Given the description of an element on the screen output the (x, y) to click on. 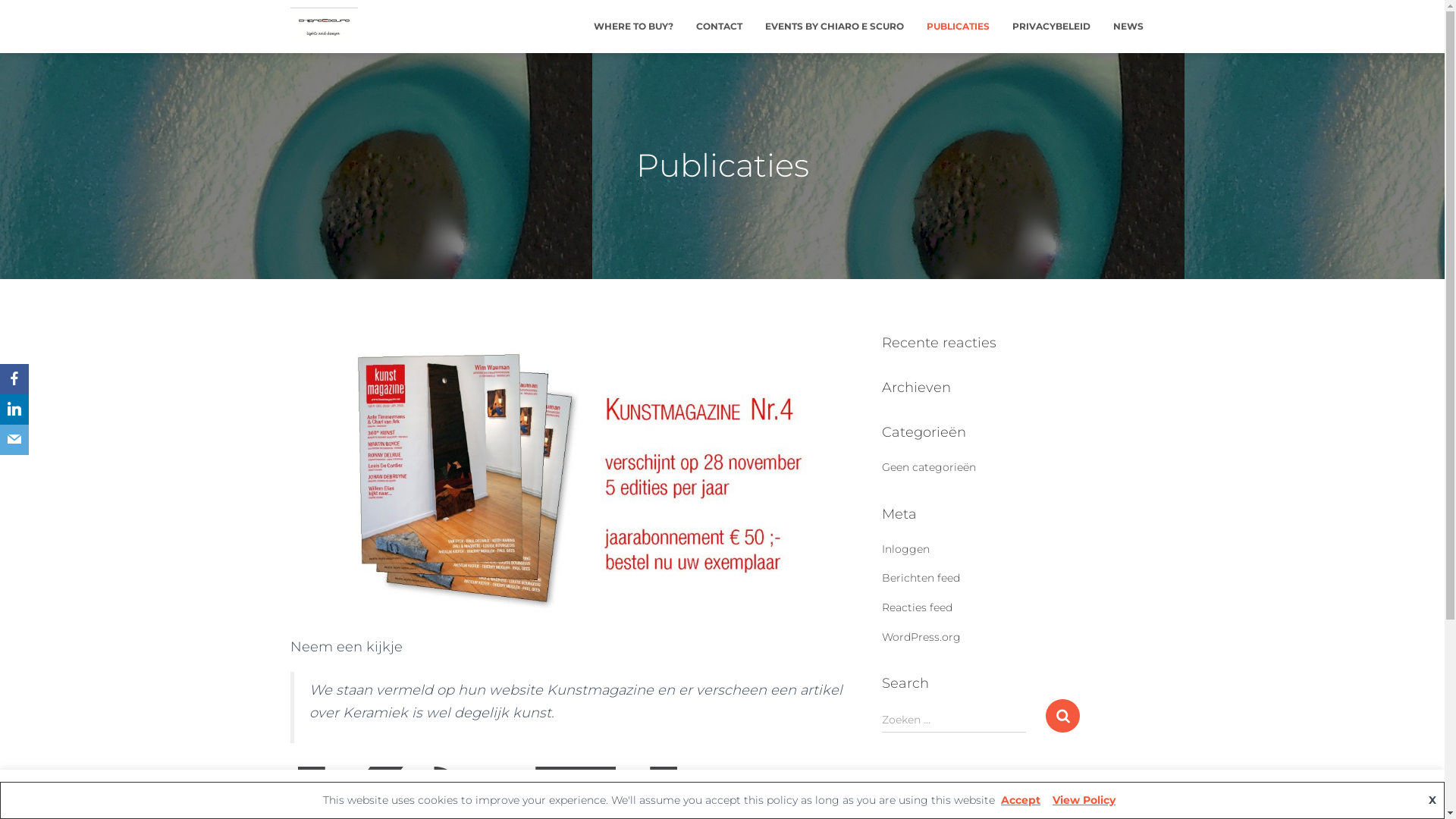
Read More Element type: text (1115, 793)
Berichten feed Element type: text (920, 577)
PUBLICATIES Element type: text (957, 25)
NEWS Element type: text (1127, 25)
View Policy Element type: text (1083, 799)
Inloggen Element type: text (904, 548)
PRIVACYBELEID Element type: text (1051, 25)
Reject Element type: text (1048, 794)
Accept Element type: text (990, 794)
WordPress.org Element type: text (920, 636)
Zoeken Element type: text (1062, 715)
Accept Element type: text (1020, 799)
EVENTS BY CHIARO E SCURO Element type: text (834, 25)
CONTACT Element type: text (718, 25)
Reacties feed Element type: text (916, 607)
WHERE TO BUY? Element type: text (633, 25)
